Given the description of an element on the screen output the (x, y) to click on. 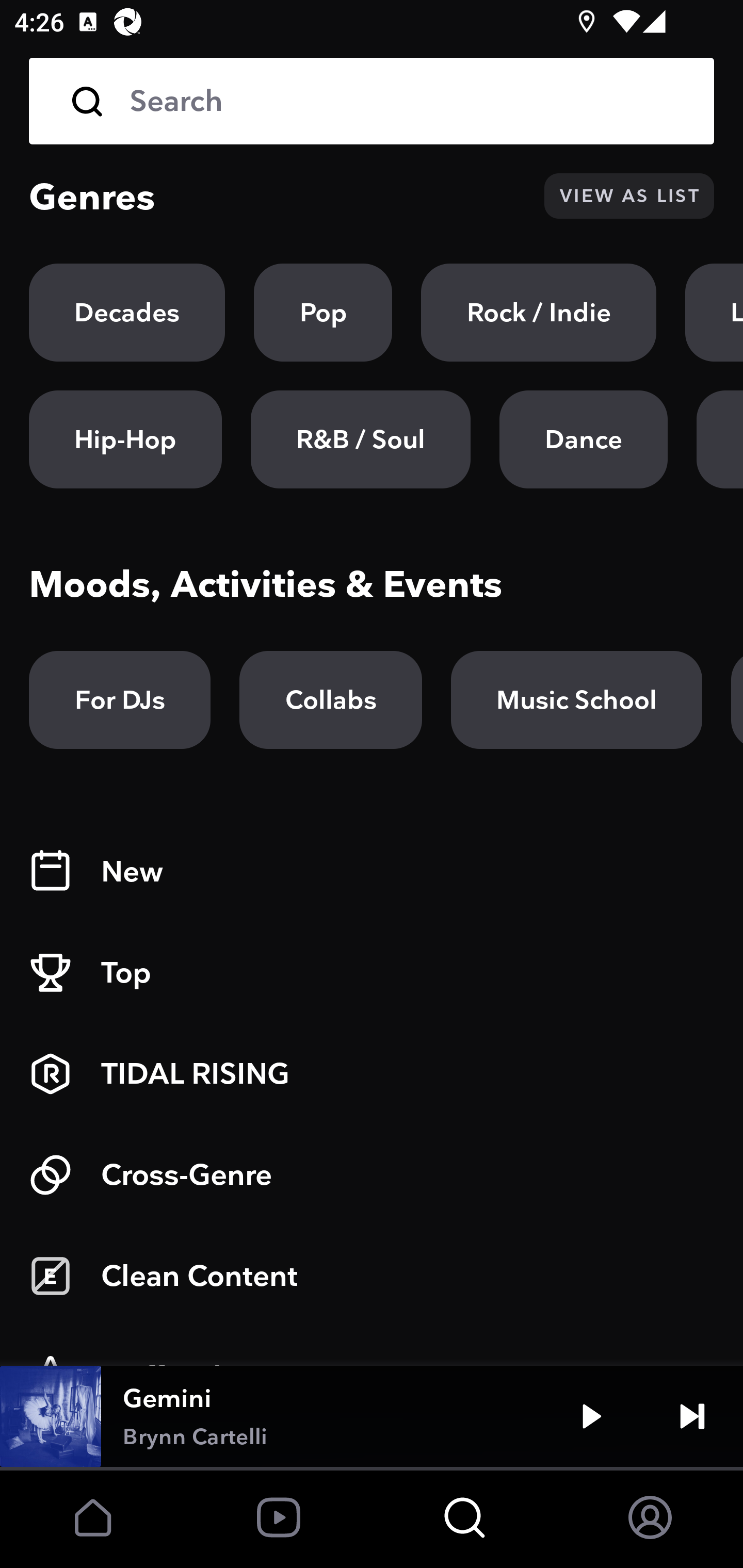
Search (371, 101)
Search (407, 100)
VIEW AS LIST (629, 195)
Decades (126, 312)
Pop (323, 312)
Rock / Indie (538, 312)
Hip-Hop (125, 439)
R&B / Soul (360, 439)
Dance (583, 439)
For DJs (119, 699)
Collabs (330, 699)
Music School (576, 699)
New (371, 871)
Top (371, 972)
TIDAL RISING (371, 1073)
Cross-Genre (371, 1175)
Clean Content (371, 1276)
Gemini Brynn Cartelli Play (371, 1416)
Play (590, 1416)
